Given the description of an element on the screen output the (x, y) to click on. 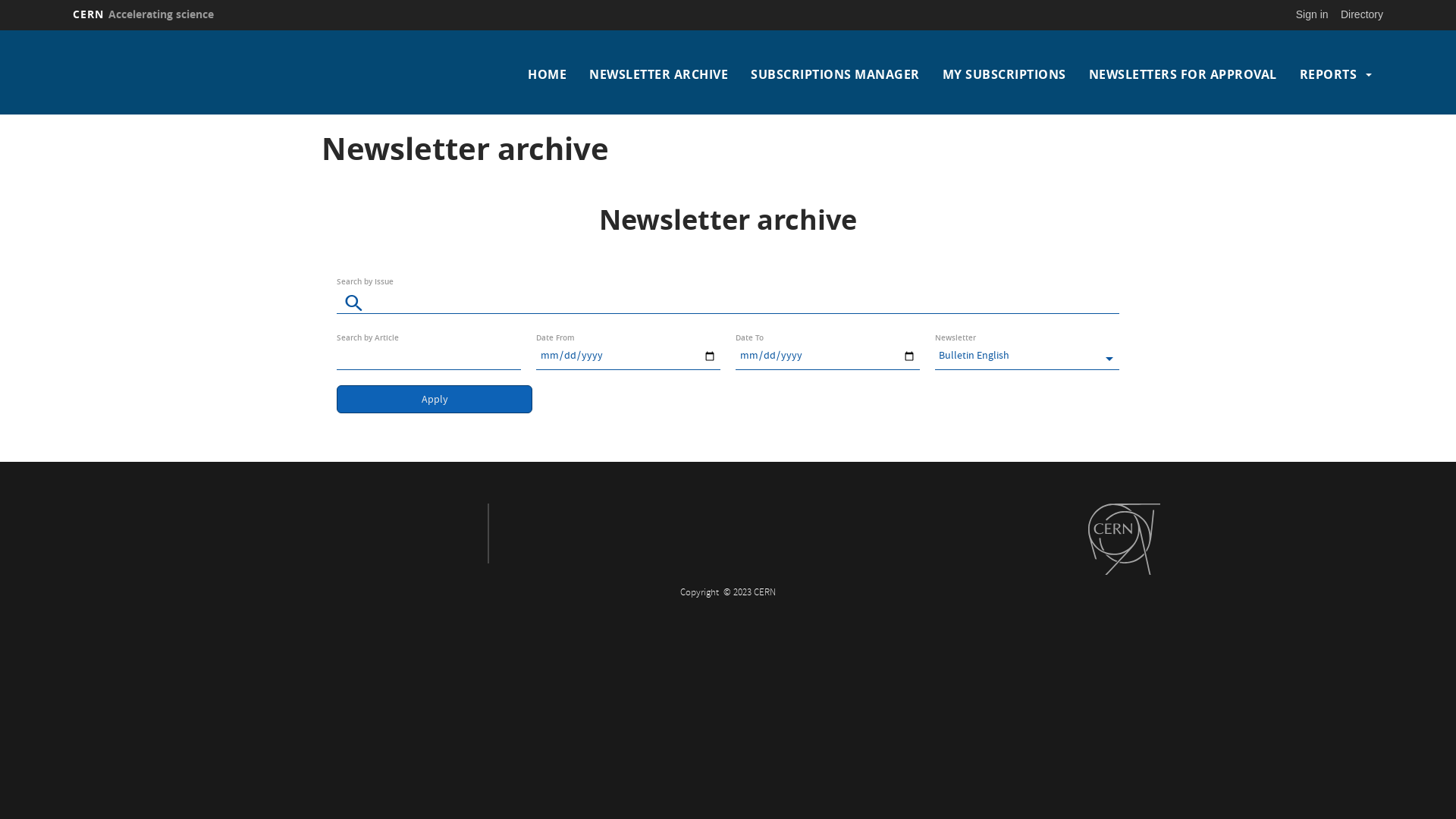
SUBSCRIPTIONS MANAGER Element type: text (834, 74)
Apply Element type: text (434, 399)
REPORTS Element type: text (1328, 74)
CERN Element type: hover (1124, 538)
Copyright Element type: text (700, 593)
HOME Element type: text (546, 74)
CERN Accelerating science Element type: text (142, 14)
Sign in Element type: text (1311, 14)
NEWSLETTERS FOR APPROVAL Element type: text (1182, 74)
MY SUBSCRIPTIONS Element type: text (1003, 74)
NEWSLETTER ARCHIVE Element type: text (658, 74)
Directory Element type: text (1361, 14)
Skip to main content Element type: text (0, 30)
